Given the description of an element on the screen output the (x, y) to click on. 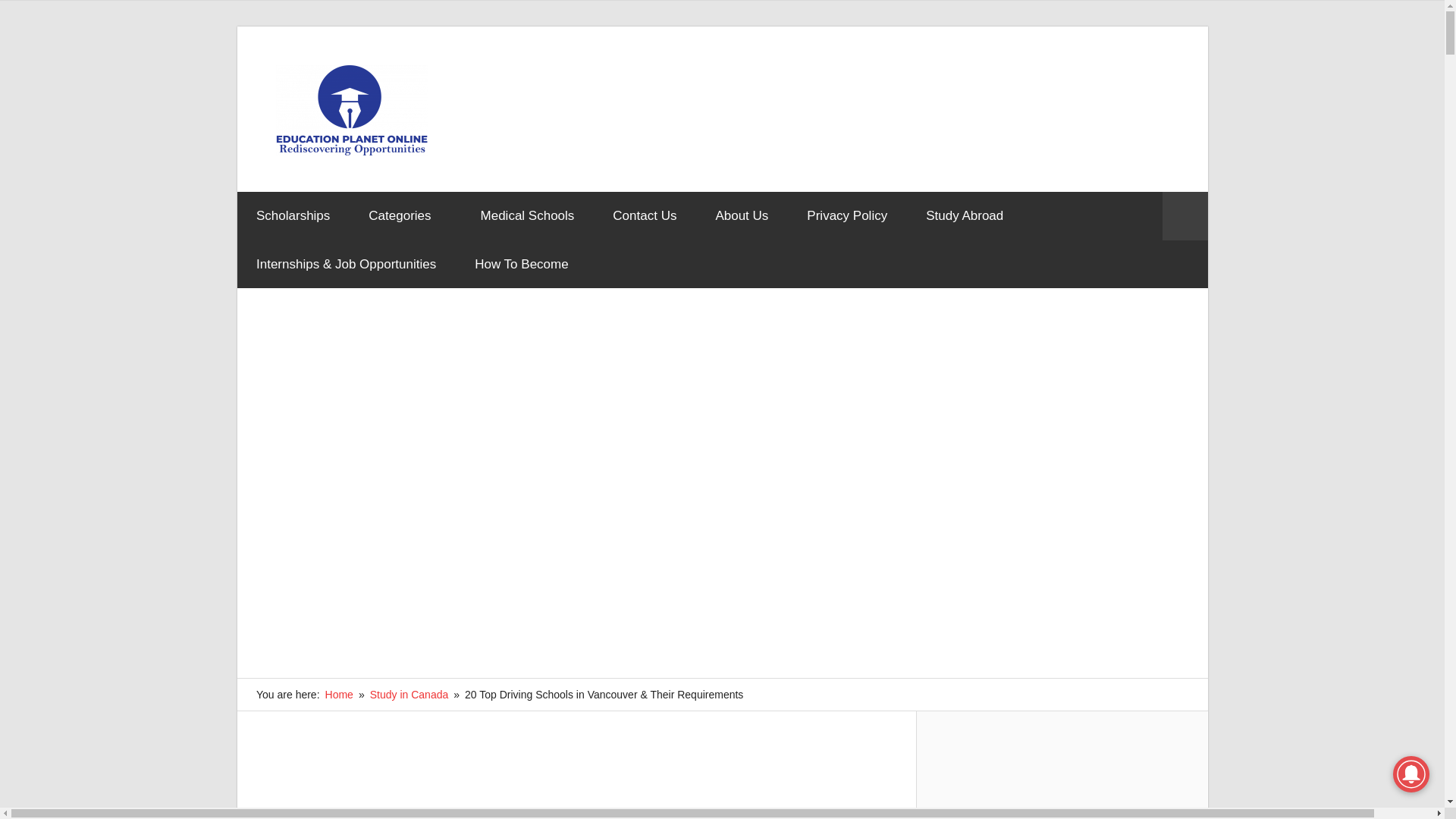
Home (338, 694)
Advertisement (576, 787)
About Us (741, 215)
Categories (405, 215)
How To Become (521, 263)
Scholarships (292, 215)
Contact Us (644, 215)
Medical Schools (527, 215)
Privacy Policy (847, 215)
Advertisement (893, 108)
Study in Canada (408, 694)
Study Abroad (965, 215)
